Given the description of an element on the screen output the (x, y) to click on. 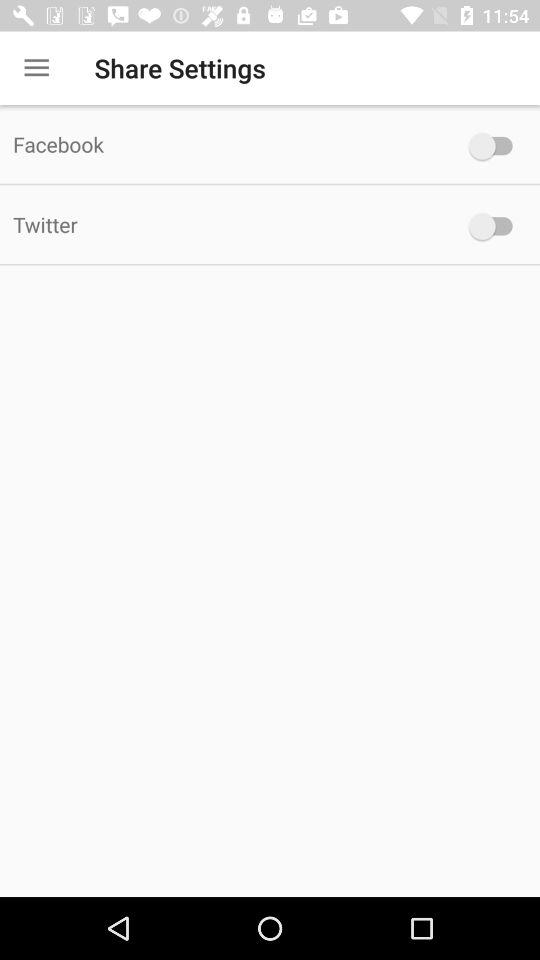
enable sharing with twitter (495, 226)
